Given the description of an element on the screen output the (x, y) to click on. 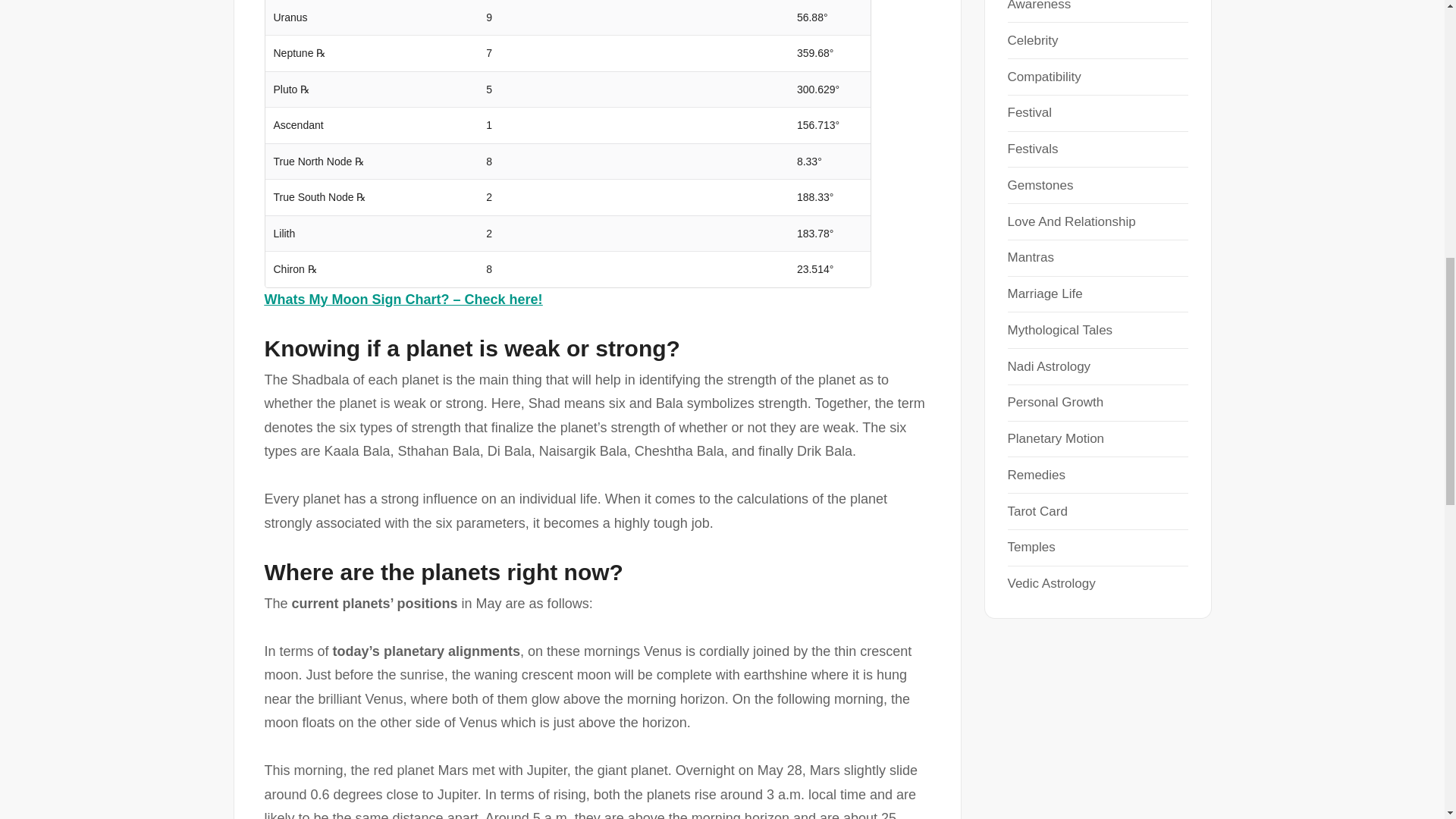
Awareness (1038, 5)
